Given the description of an element on the screen output the (x, y) to click on. 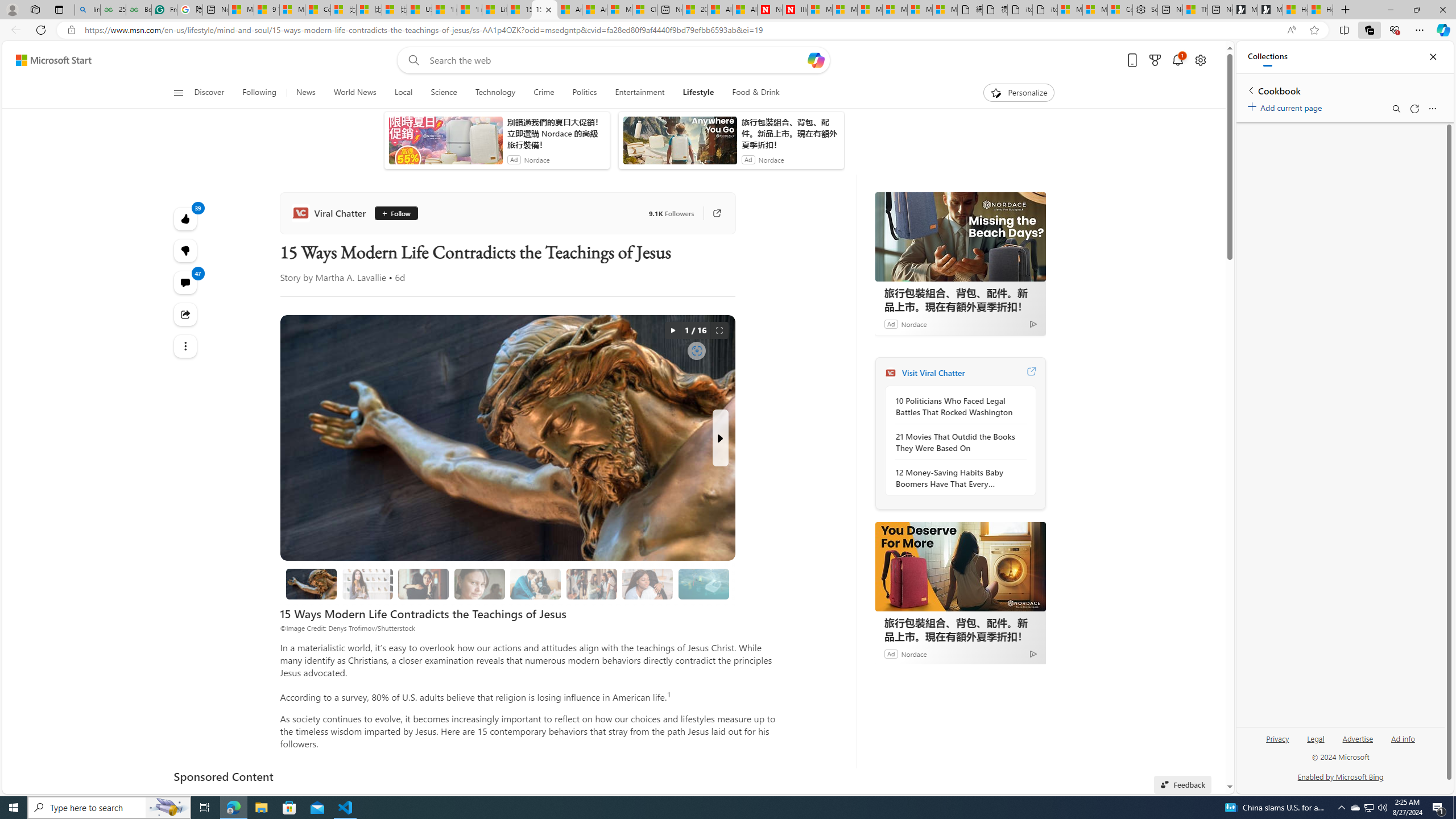
Lifestyle (698, 92)
14. Environmental Neglect (703, 583)
4. The Manipulative (423, 583)
Add this page to favorites (Ctrl+D) (1314, 29)
39 (184, 250)
Cloud Computing Services | Microsoft Azure (644, 9)
anim-content (679, 144)
Notifications (1177, 60)
Address and search bar (680, 29)
Microsoft account | Privacy (1094, 9)
Open Copilot (815, 59)
